Given the description of an element on the screen output the (x, y) to click on. 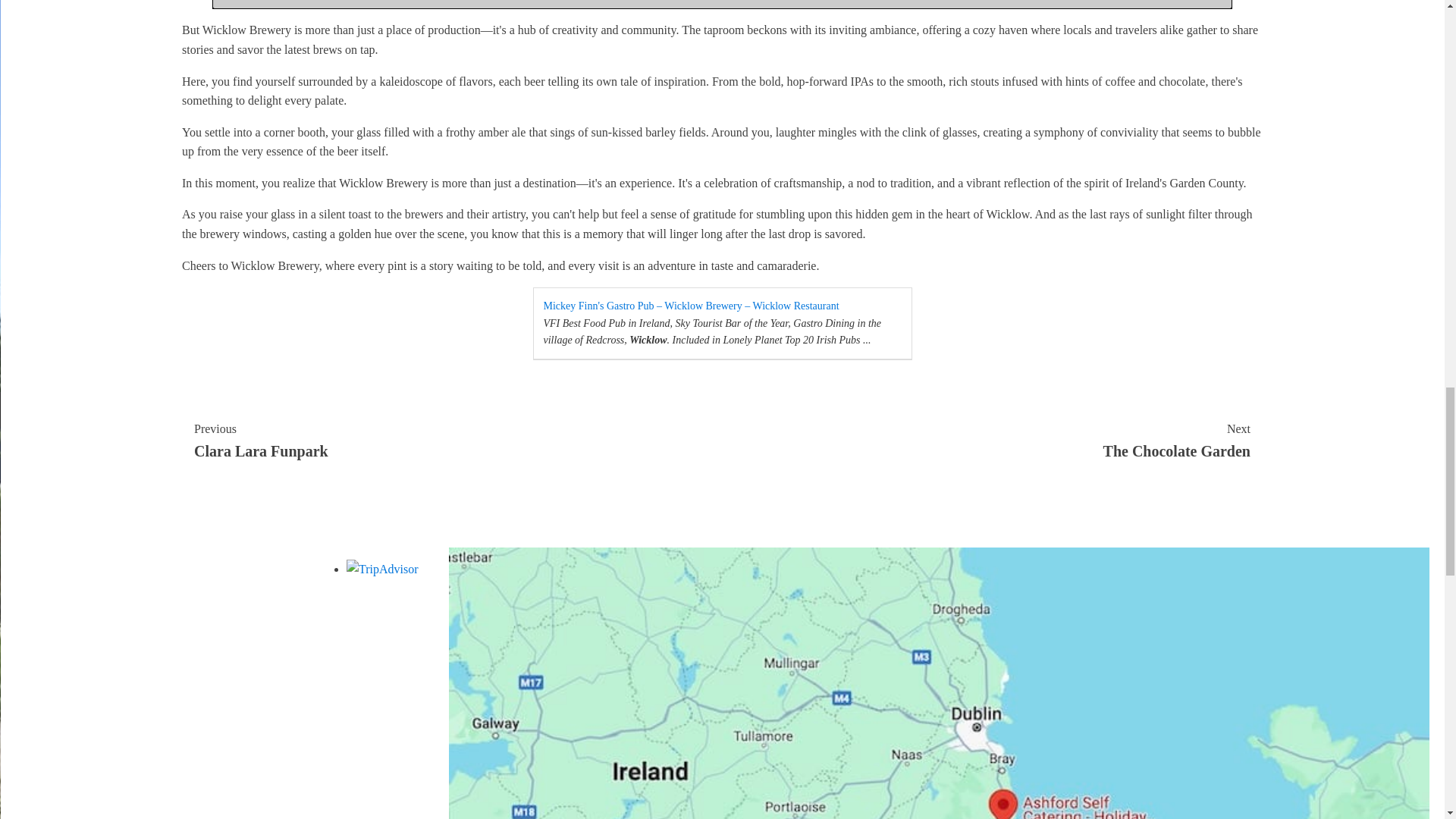
Wicklow Brewery - The Best Beer in the World (992, 441)
